Given the description of an element on the screen output the (x, y) to click on. 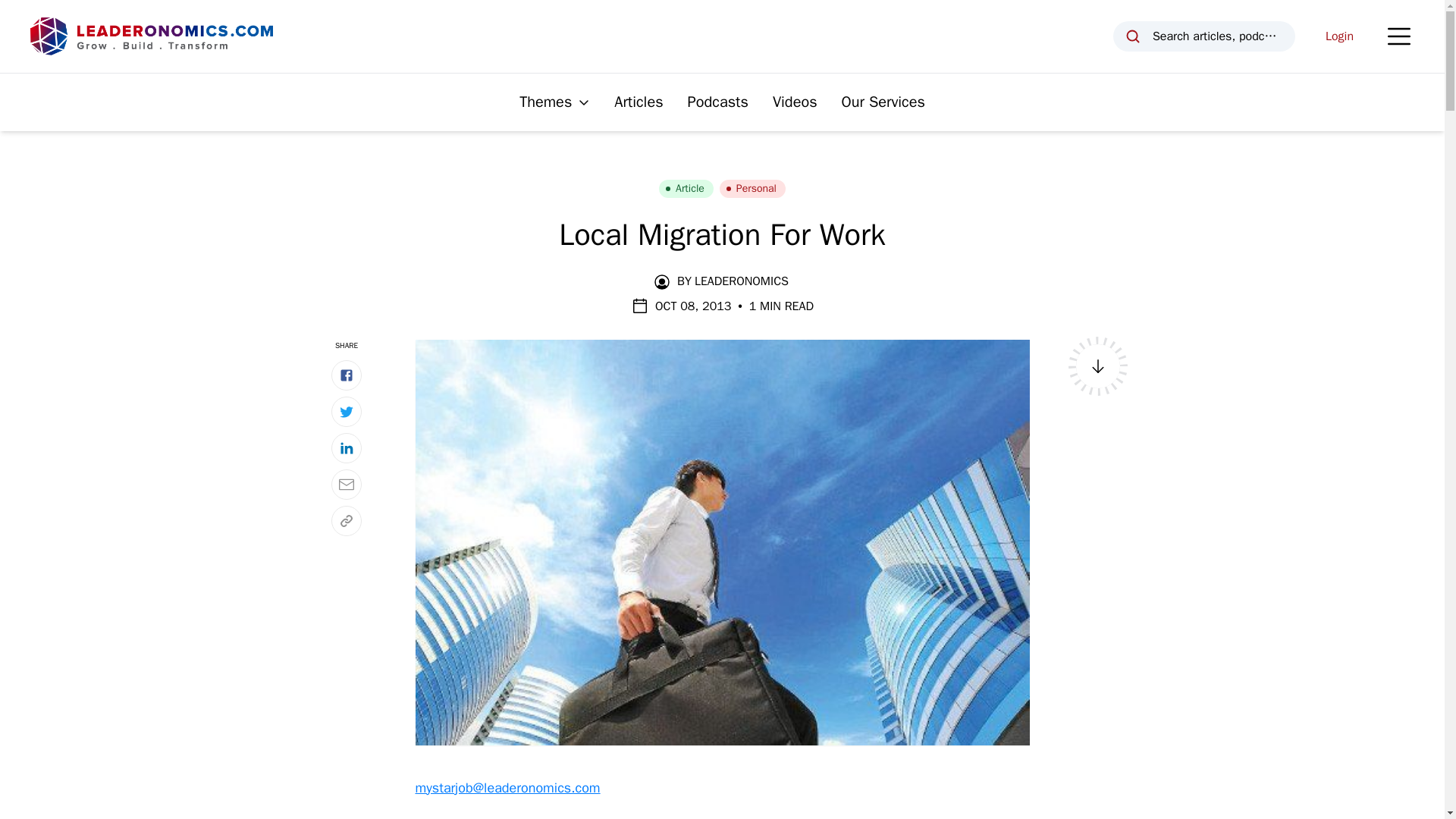
Podcasts (717, 102)
Search articles, podcasts, videos, resources, and authors. (1204, 36)
Personal (752, 188)
Login (1339, 36)
Our Services (882, 102)
Articles (638, 102)
Open Sidebar Menu (1398, 36)
LEADERONOMICS (741, 280)
Videos (794, 102)
Article (686, 188)
